Given the description of an element on the screen output the (x, y) to click on. 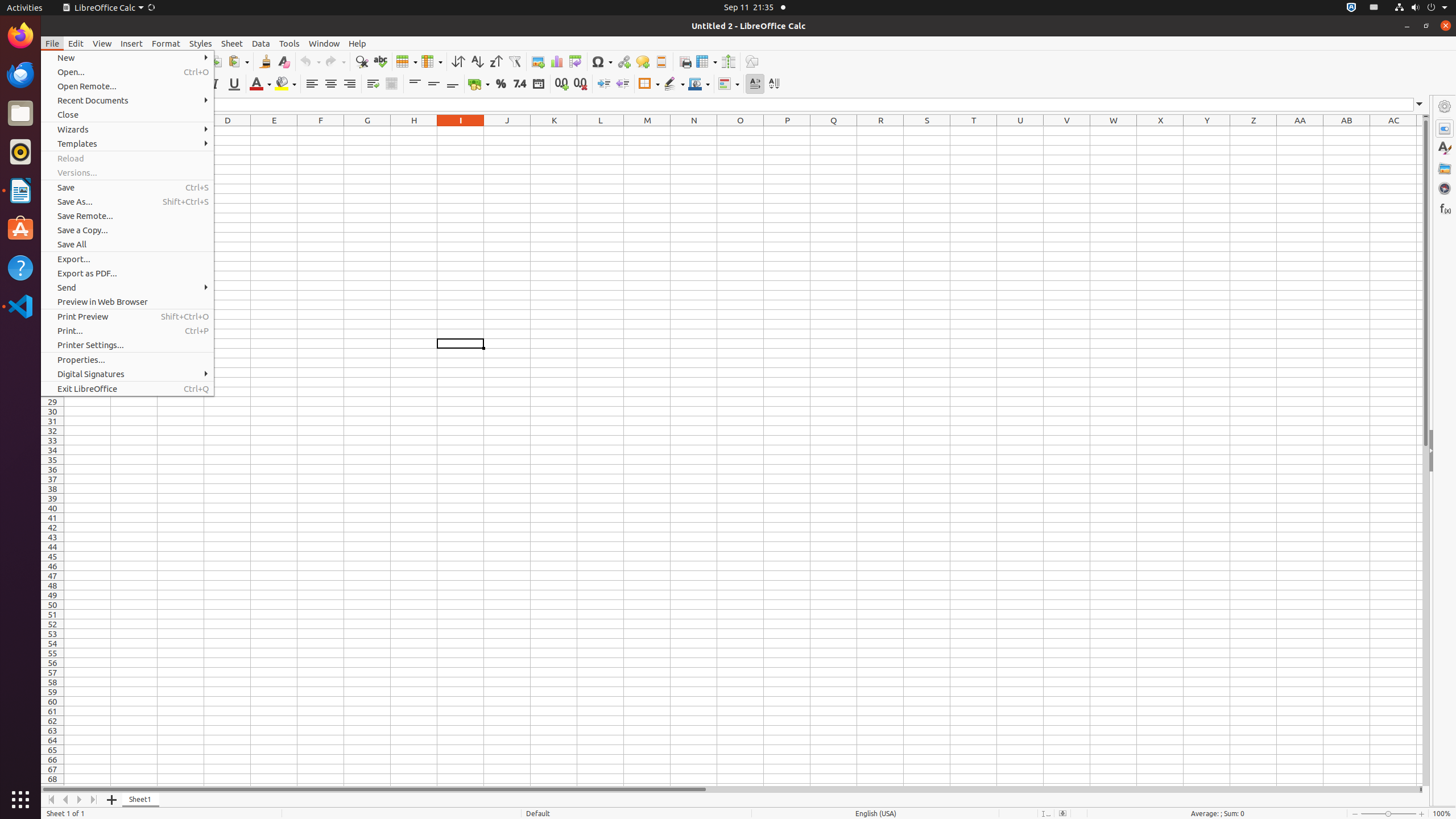
Expand Formula Bar Element type: push-button (1419, 104)
Save Element type: menu-item (126, 187)
Headers and Footers Element type: push-button (660, 61)
S1 Element type: table-cell (926, 130)
Format Element type: menu (165, 43)
